Given the description of an element on the screen output the (x, y) to click on. 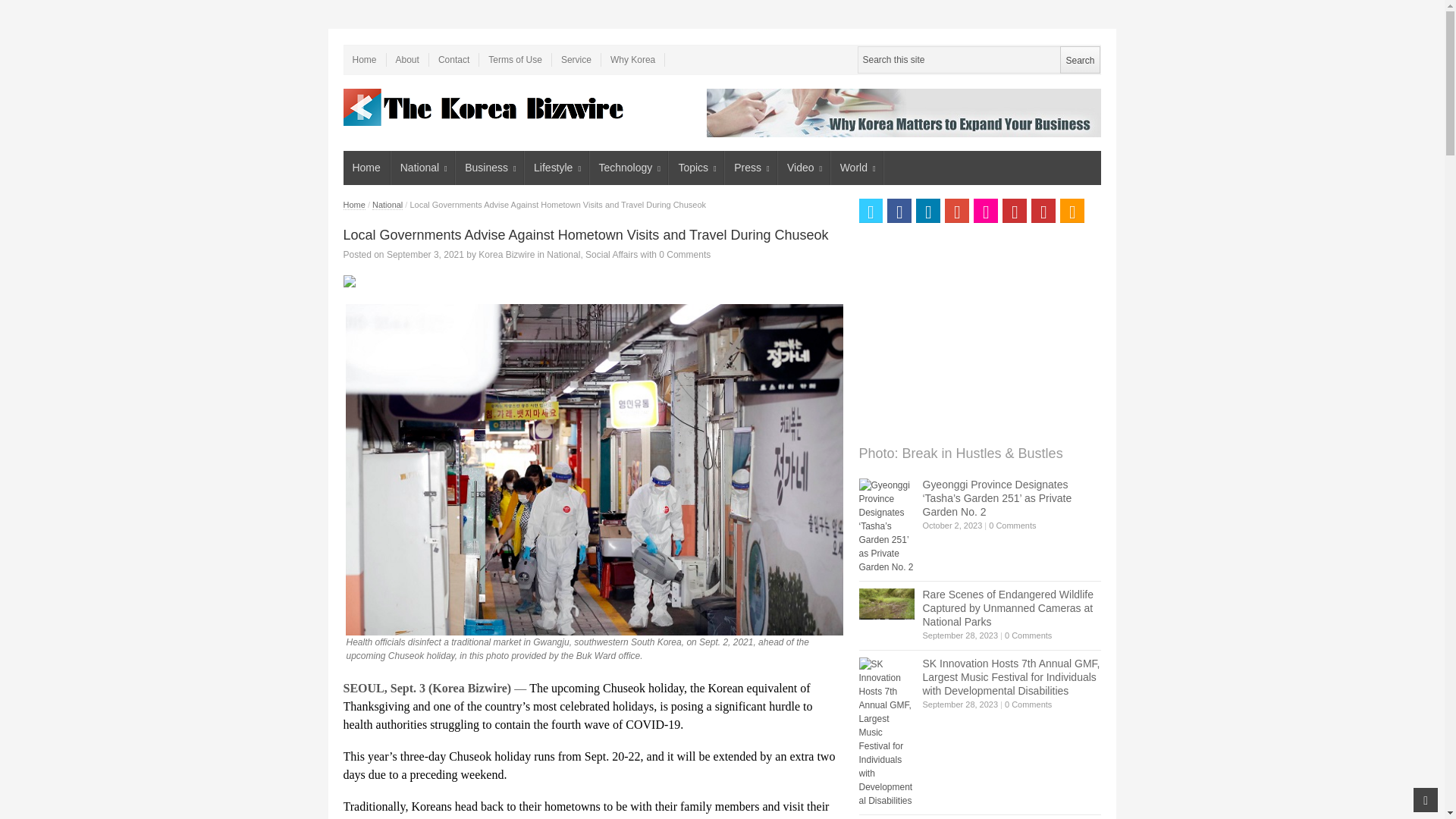
Be Korea-savvy (484, 107)
National (422, 167)
Search (1079, 59)
Home (363, 59)
View all posts by Korea Bizwire (506, 254)
Terms of Use (515, 59)
Service (576, 59)
View all posts in Social Affairs (611, 254)
Why Korea (633, 59)
4:42 am (425, 254)
